Given the description of an element on the screen output the (x, y) to click on. 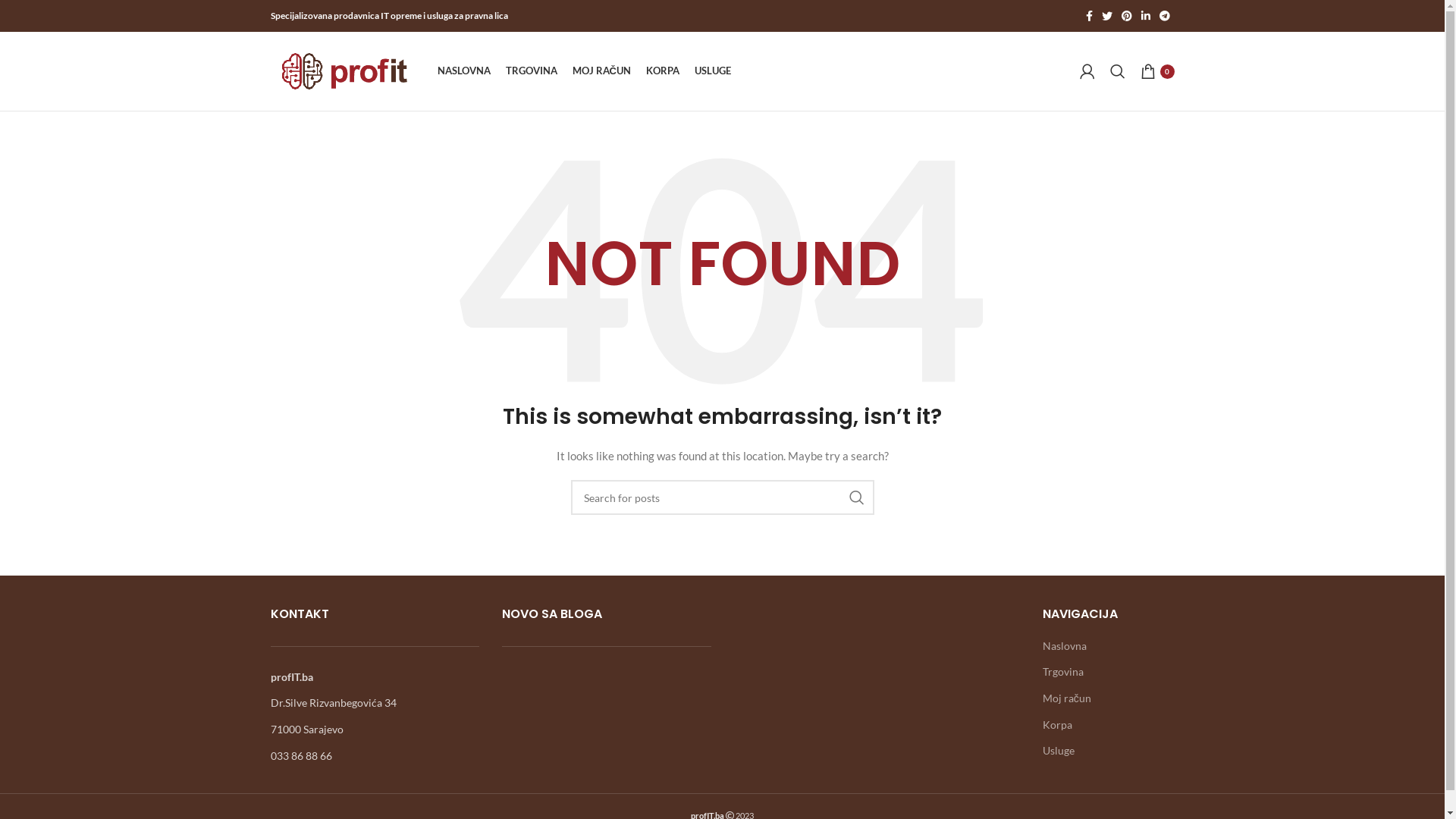
TRGOVINA Element type: text (530, 71)
SEARCH Element type: text (855, 497)
Search for posts Element type: hover (721, 497)
Korpa Element type: text (1057, 724)
Moj profil Element type: hover (1087, 71)
NASLOVNA Element type: text (462, 71)
Usluge Element type: text (1059, 750)
Prijavi se Element type: text (968, 312)
Search Element type: hover (1117, 71)
Naslovna Element type: text (1065, 645)
KORPA Element type: text (662, 71)
Trgovina Element type: text (1063, 671)
0 Element type: text (1157, 71)
USLUGE Element type: text (712, 71)
